Given the description of an element on the screen output the (x, y) to click on. 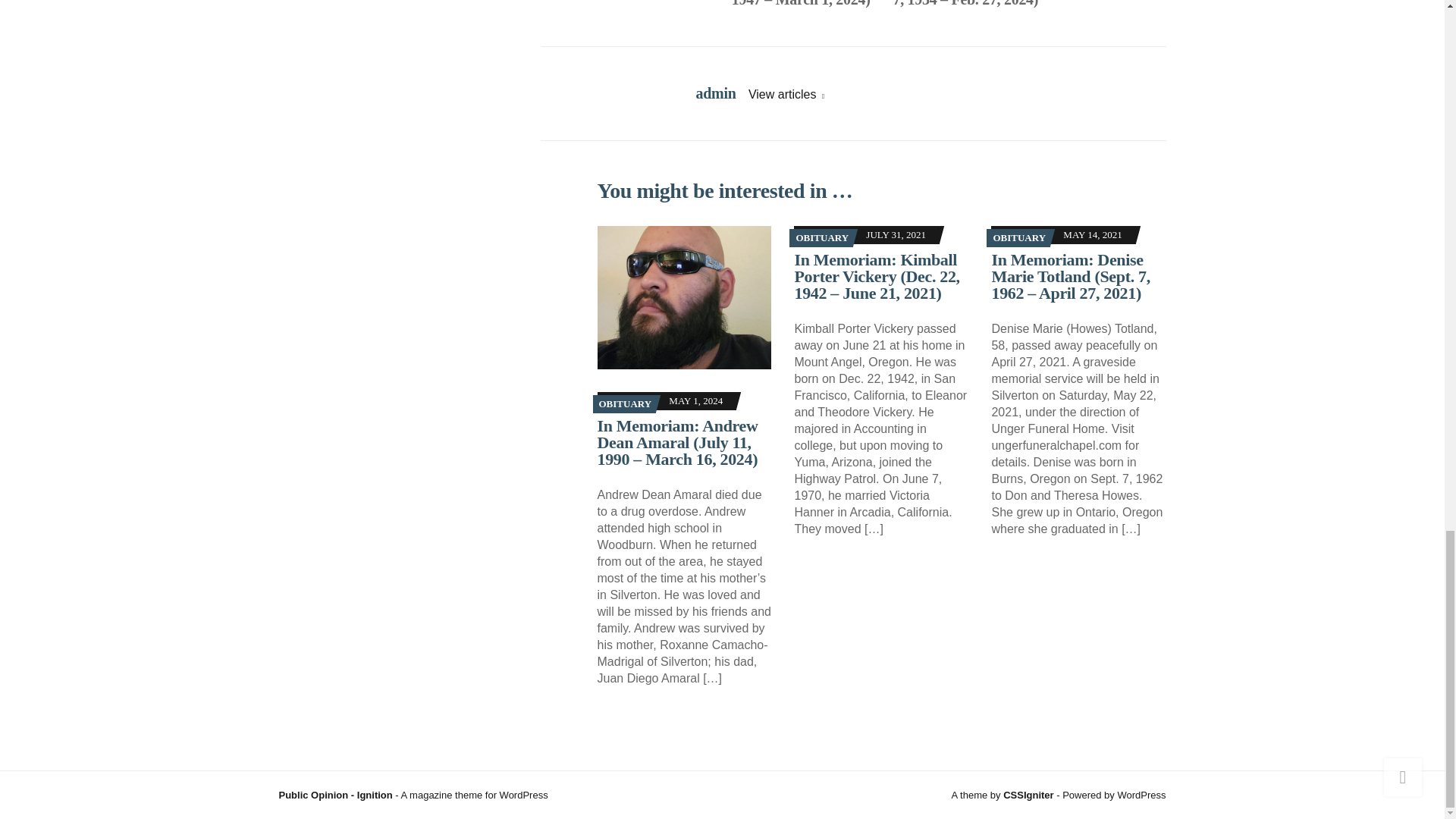
View articles (786, 93)
OBITUARY (1018, 237)
OBITUARY (821, 237)
OBITUARY (625, 403)
